Given the description of an element on the screen output the (x, y) to click on. 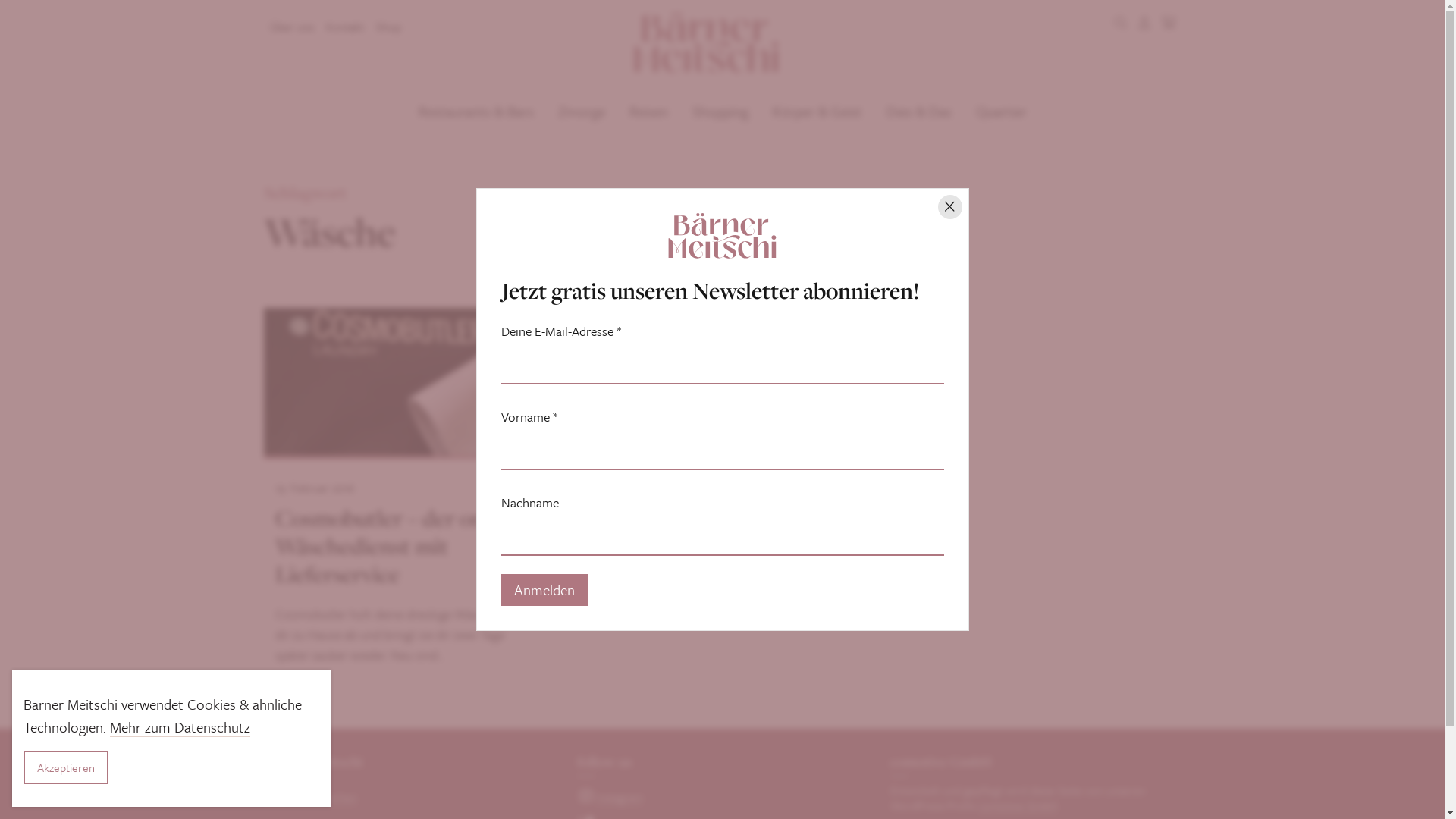
Zmorge Element type: text (581, 111)
Akzeptieren Element type: text (65, 767)
Restaurants & Bars Element type: text (476, 111)
Dies & Das Element type: text (918, 111)
Unser Versprechen Element type: text (310, 796)
Instagram Element type: text (619, 796)
Mehr zum Datenschutz Element type: text (179, 726)
Quartier Element type: text (1000, 111)
Shop Element type: text (388, 26)
Shopping Element type: text (719, 111)
Anmelden Element type: text (543, 589)
Reisen Element type: text (648, 111)
Kontakt Element type: text (345, 26)
comotive GmbH Element type: text (1017, 805)
